Given the description of an element on the screen output the (x, y) to click on. 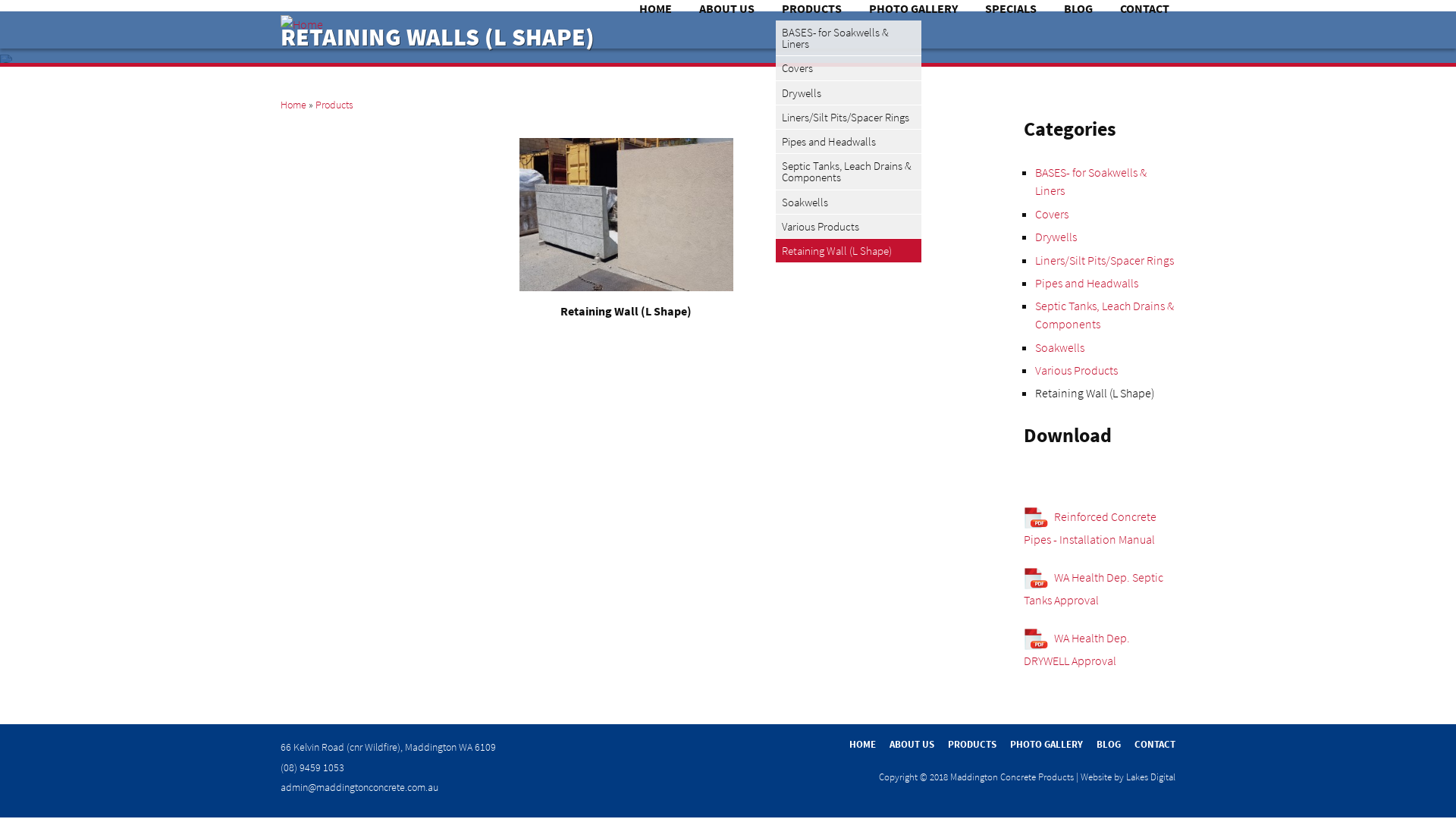
Reinforced Concrete Pipes - Installation Manual Element type: text (1089, 527)
BASES- for Soakwells & Liners Element type: text (848, 38)
WA Health Dep. Septic Tanks Approval Element type: text (1093, 588)
WA Health Dep. DRYWELL Approval Element type: text (1076, 649)
HOME Element type: text (862, 743)
Soakwells Element type: text (848, 202)
CONTACT Element type: text (1154, 743)
Soakwells Element type: text (1059, 346)
Drywells Element type: text (848, 93)
(08) 9459 1053 Element type: text (312, 767)
Septic Tanks, Leach Drains & Components Element type: text (1104, 314)
Various Products Element type: text (1076, 369)
Retaining Wall (L Shape) Element type: text (848, 250)
BLOG Element type: text (1108, 743)
Home Element type: hover (301, 24)
Retaining Wall (L Shape) Element type: text (1094, 392)
Pipes and Headwalls Element type: text (848, 141)
BASES- for Soakwells & Liners Element type: text (1090, 180)
PHOTO GALLERY Element type: text (1046, 743)
Retaining Wall (L Shape) Element type: text (625, 310)
66 Kelvin Road (cnr Wildfire), Maddington WA 6109 Element type: text (387, 746)
Various Products Element type: text (848, 226)
Septic Tanks, Leach Drains & Components Element type: text (848, 171)
Lakes Digital Element type: text (1150, 776)
Products Element type: text (334, 104)
ABOUT US Element type: text (911, 743)
Liners/Silt Pits/Spacer Rings Element type: text (848, 117)
Liners/Silt Pits/Spacer Rings Element type: text (1104, 259)
Pipes and Headwalls Element type: text (1086, 282)
Drywells Element type: text (1055, 236)
admin@maddingtonconcrete.com.au Element type: text (359, 786)
Covers Element type: text (848, 68)
Covers Element type: text (1051, 213)
PRODUCTS Element type: text (971, 743)
Home Element type: text (293, 104)
